Given the description of an element on the screen output the (x, y) to click on. 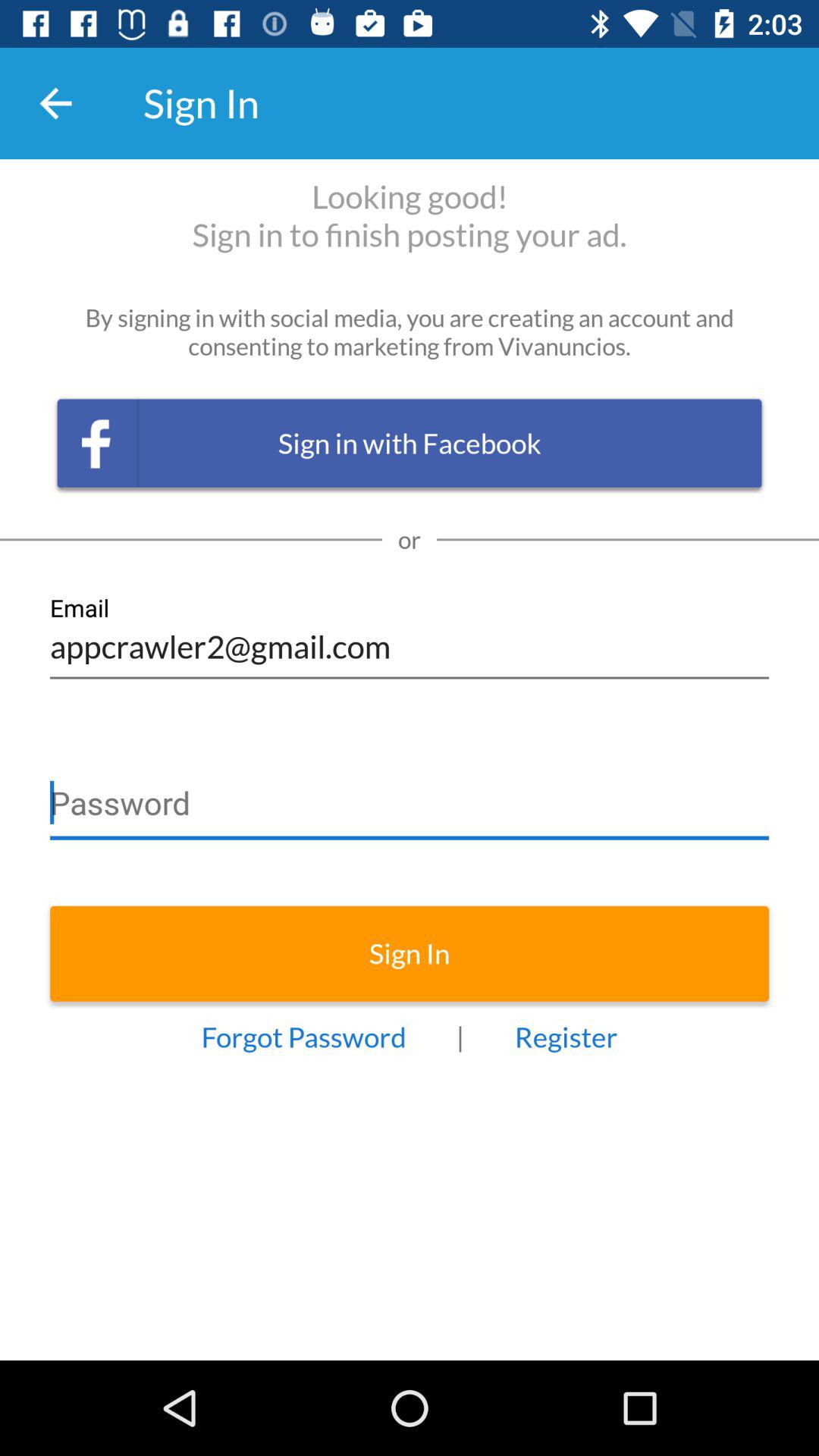
tap the item next to the | item (303, 1036)
